Given the description of an element on the screen output the (x, y) to click on. 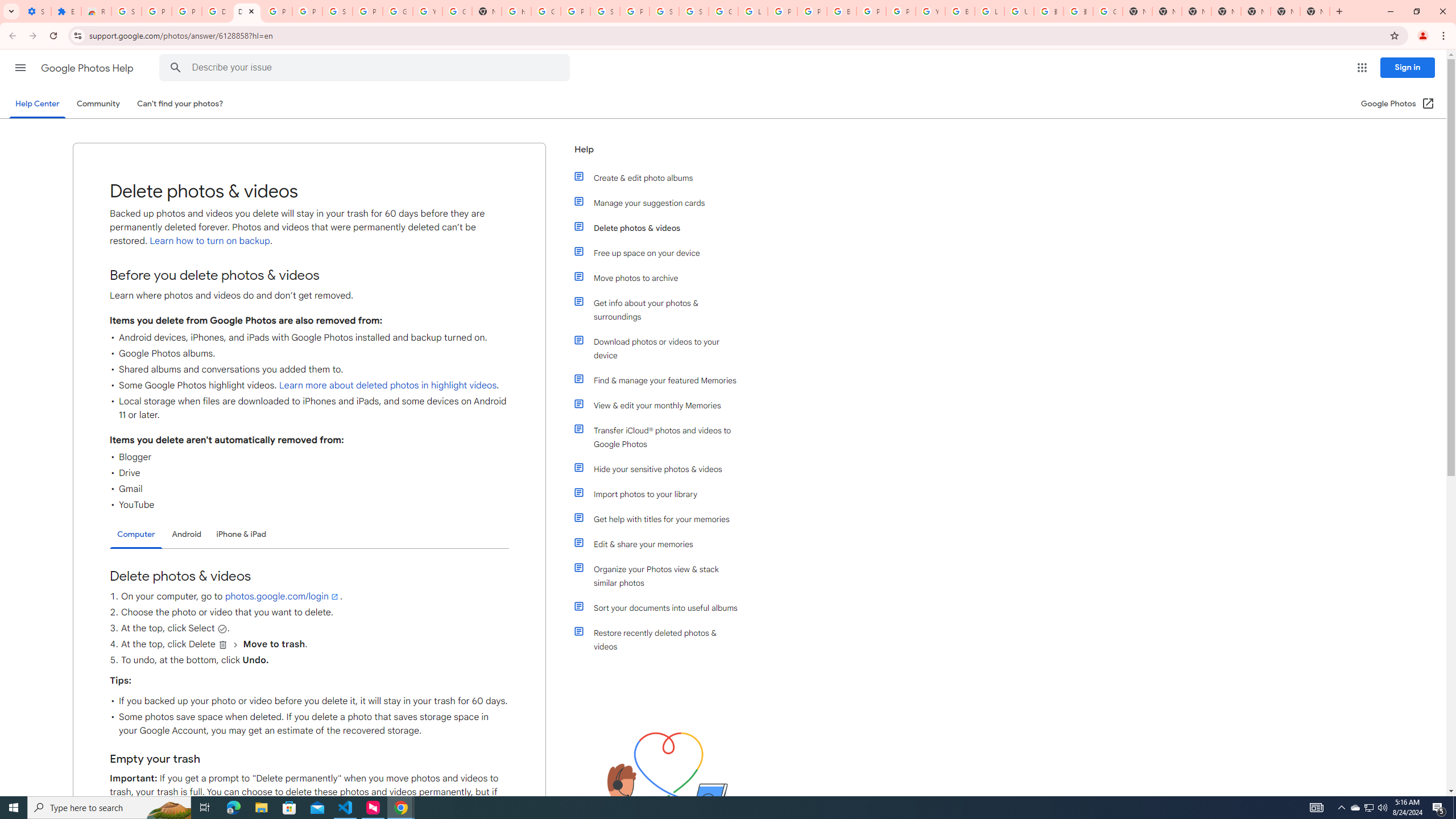
View & edit your monthly Memories (661, 405)
Search Help Center (176, 67)
Sign in - Google Accounts (337, 11)
Main menu (20, 67)
Privacy Help Center - Policies Help (811, 11)
YouTube (426, 11)
Can't find your photos? (180, 103)
